Given the description of an element on the screen output the (x, y) to click on. 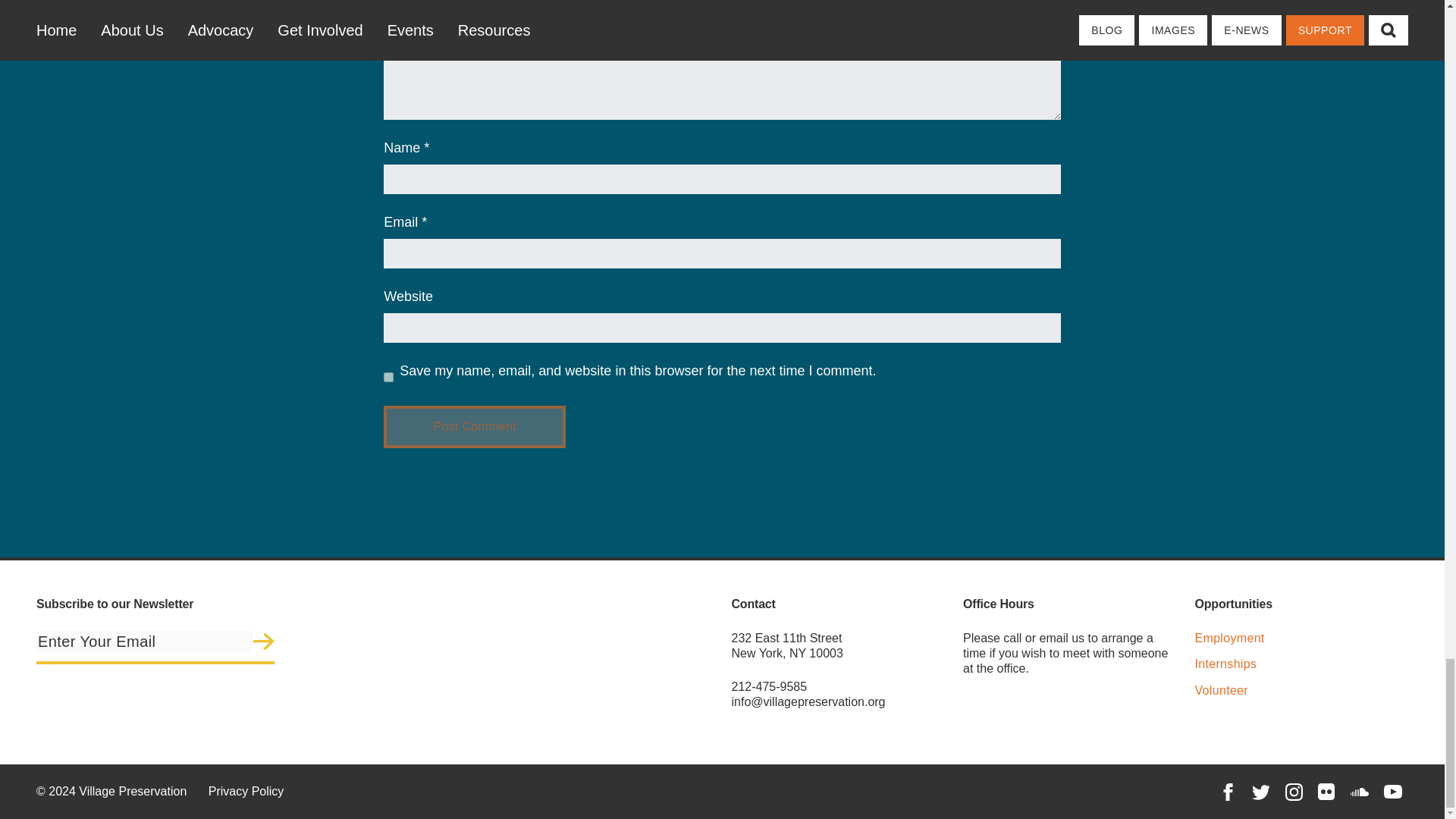
Post Comment (475, 426)
